Given the description of an element on the screen output the (x, y) to click on. 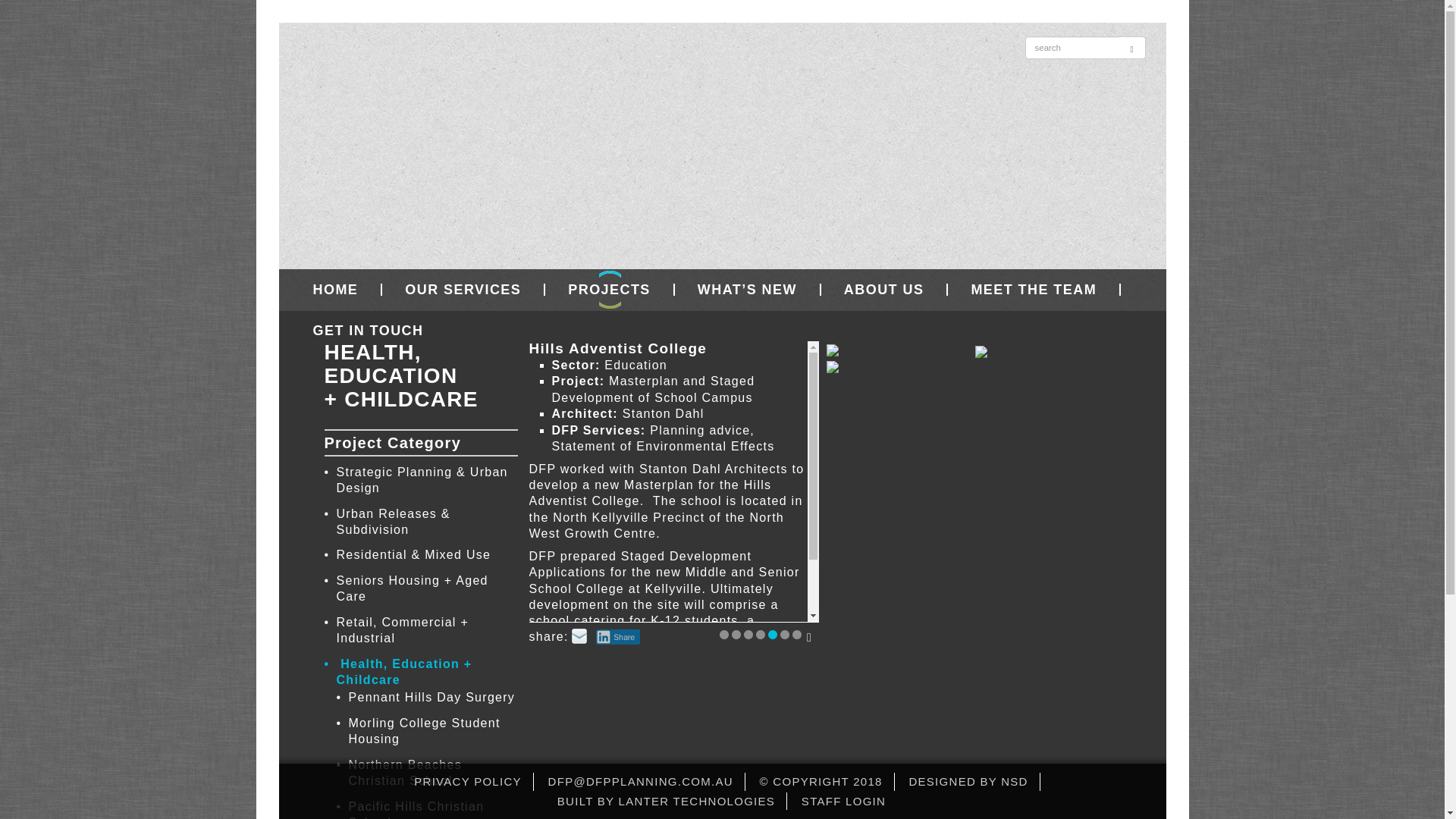
ABOUT US (885, 289)
. (797, 634)
. (784, 634)
. (760, 634)
Northern Beaches Christian School (433, 775)
OUR SERVICES (462, 289)
Pennant Hills Day Surgery (433, 699)
DESIGNED BY NSD (967, 781)
Share this page by email (579, 635)
HOME (335, 289)
. (724, 634)
Share (617, 636)
Morling College Student Housing (433, 734)
MEET THE TEAM (1034, 289)
email (579, 635)
